Given the description of an element on the screen output the (x, y) to click on. 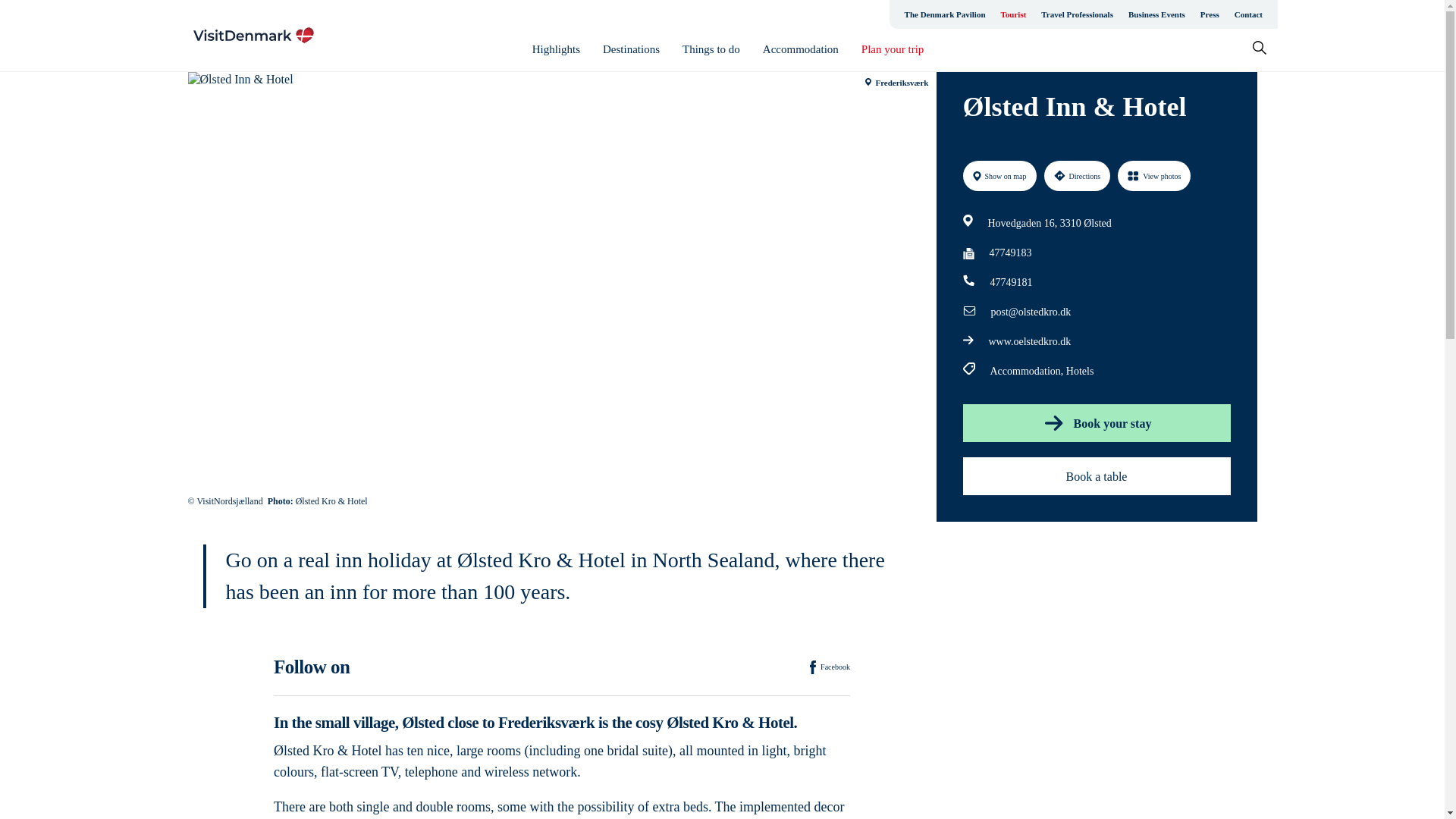
Destinations (630, 49)
47749183 (1009, 252)
Accommodation,  (1027, 371)
Things to do (710, 49)
www.oelstedkro.dk (1029, 342)
Go to homepage (253, 35)
Press (1209, 14)
Book your stay (1096, 423)
Path (968, 279)
Facebook (829, 666)
